Given the description of an element on the screen output the (x, y) to click on. 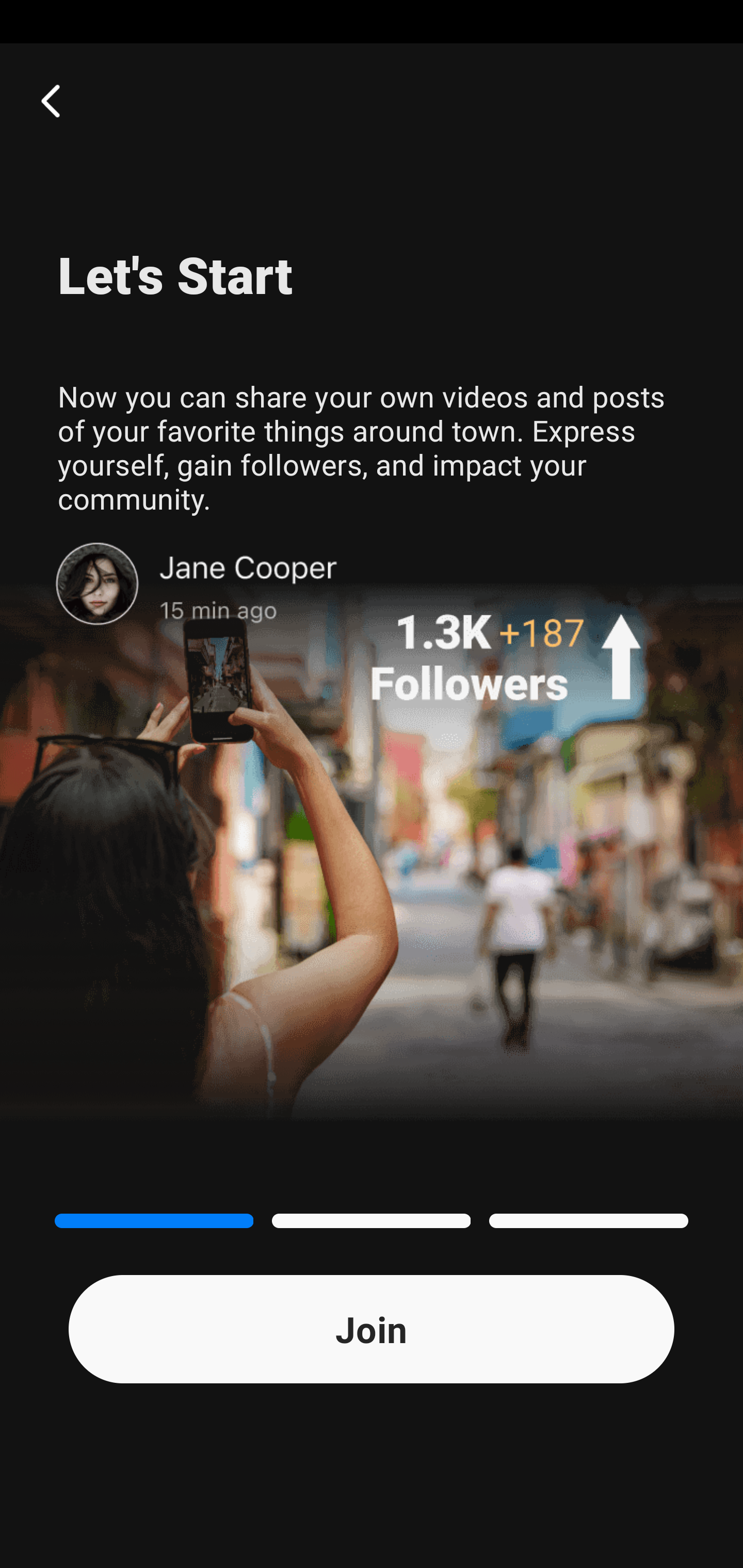
Join (371, 1328)
